Given the description of an element on the screen output the (x, y) to click on. 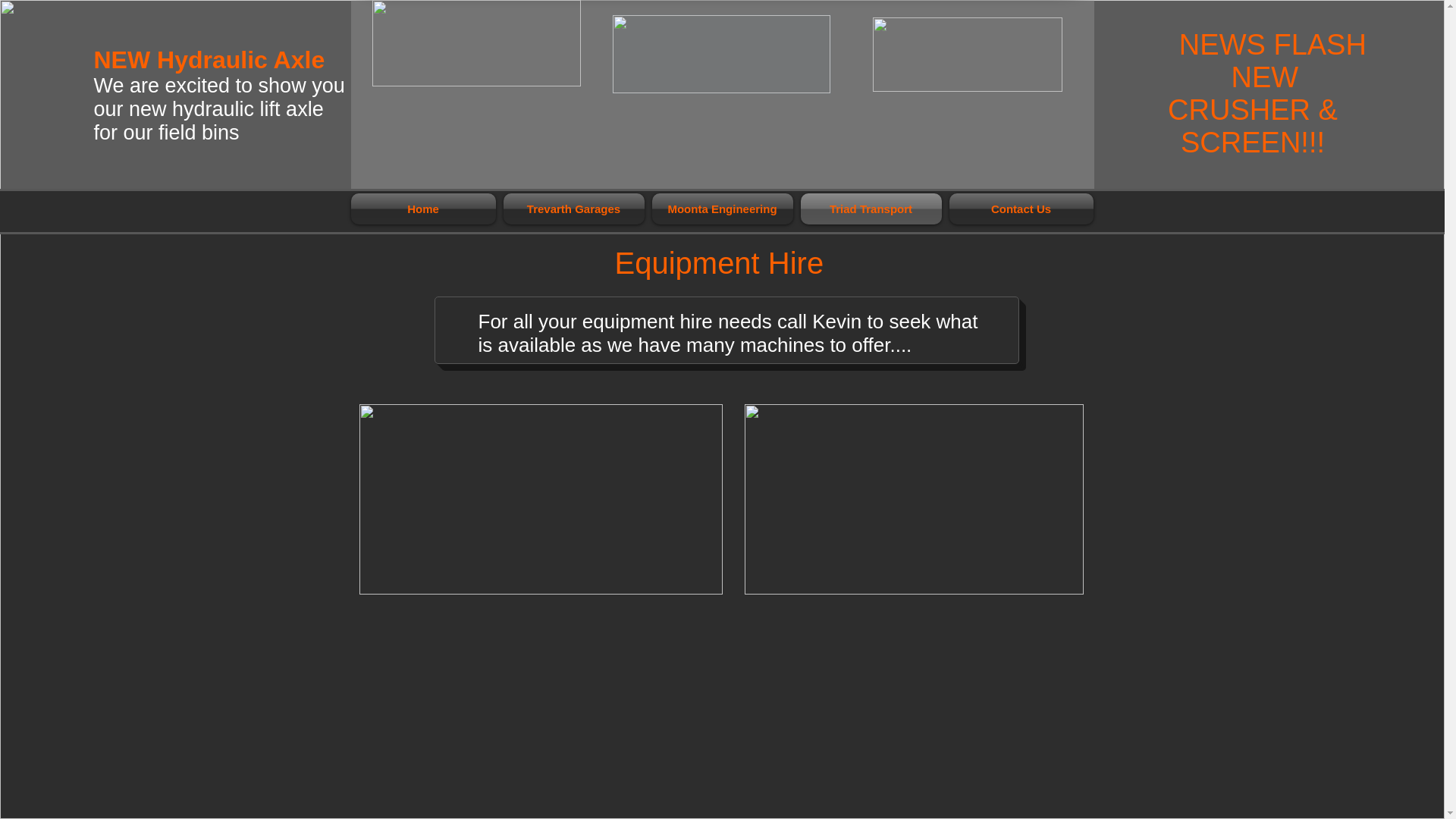
trevarth T.png (475, 43)
Trevarth Garages (573, 208)
Triad Transport (870, 208)
Moonta Engineering (721, 208)
ME.PNG (720, 54)
Home (424, 208)
triad.PNG (966, 54)
Contact Us (1018, 208)
